Given the description of an element on the screen output the (x, y) to click on. 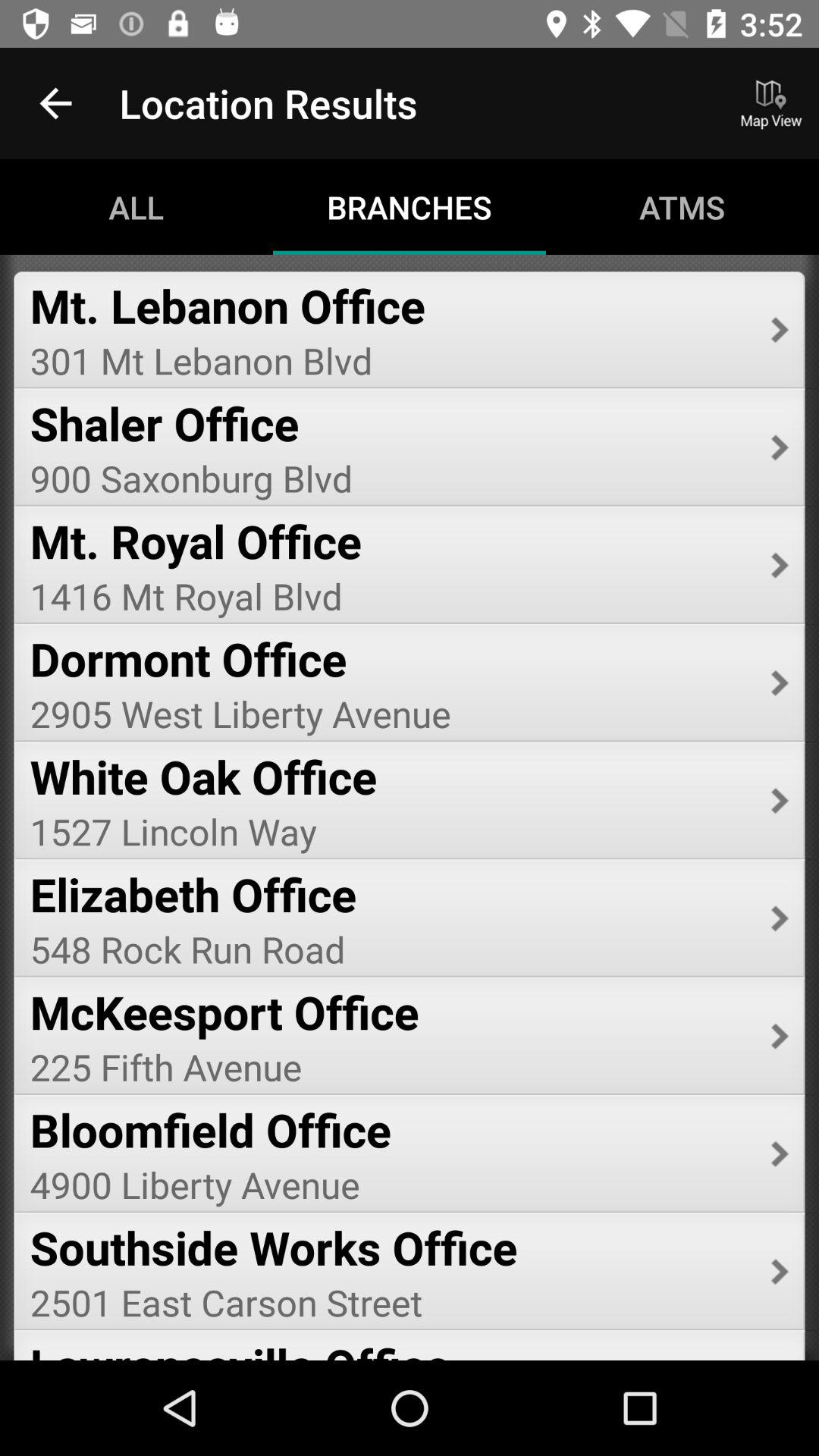
click the icon below 2905 west liberty icon (390, 776)
